Given the description of an element on the screen output the (x, y) to click on. 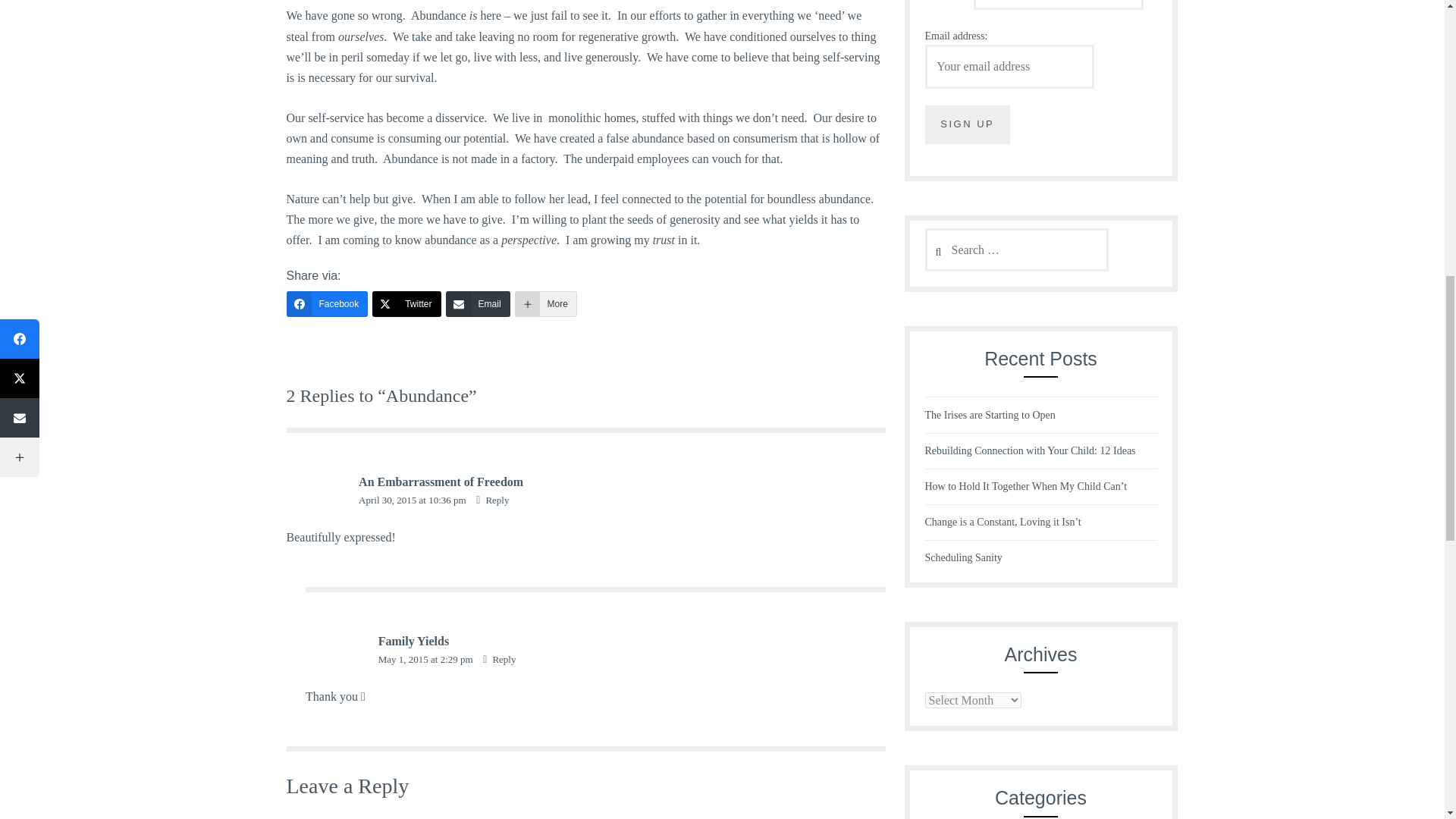
Facebook (327, 303)
Email (478, 303)
More (545, 303)
Twitter (406, 303)
Sign up (967, 124)
